Given the description of an element on the screen output the (x, y) to click on. 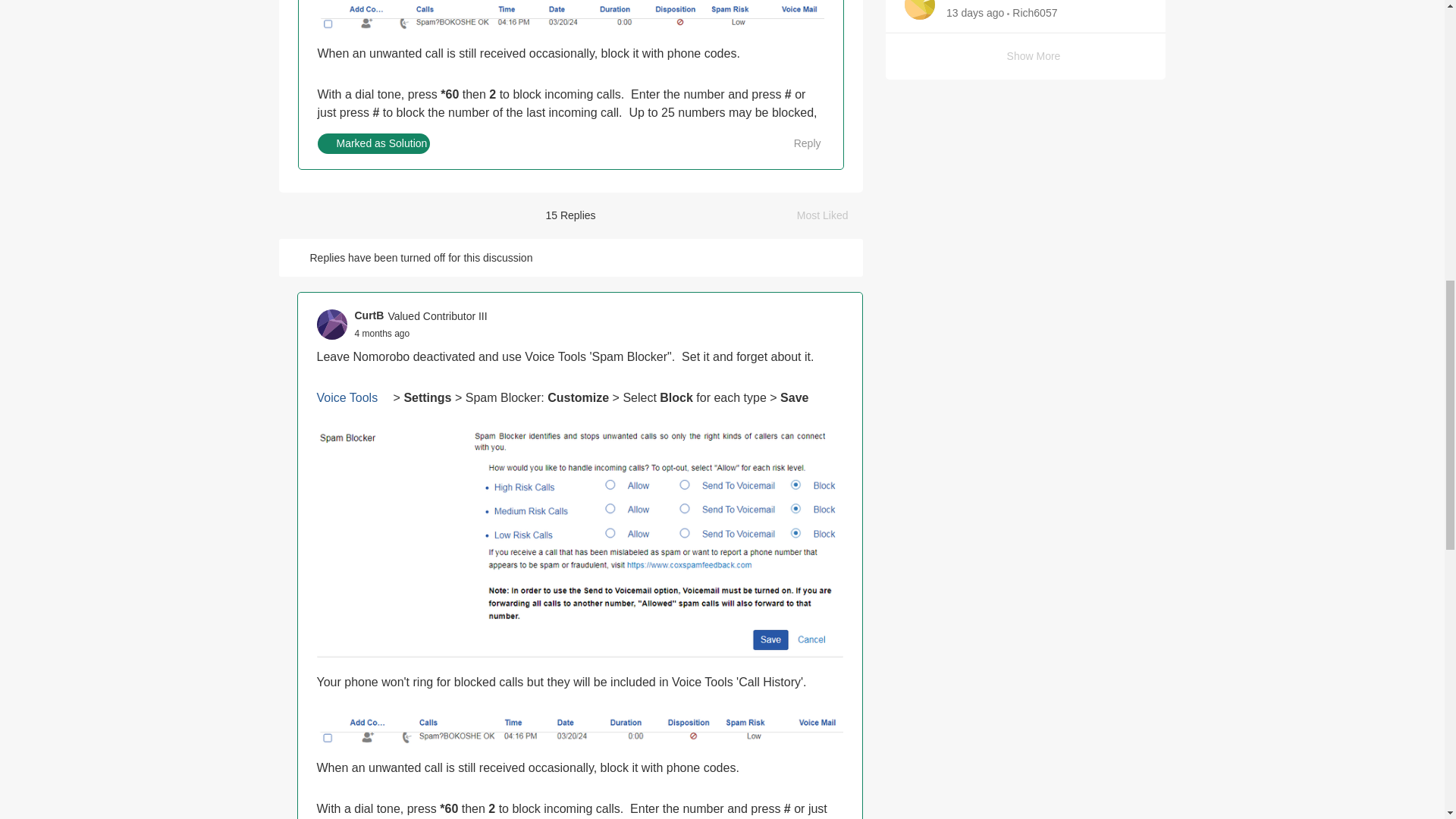
Reply (799, 143)
March 23, 2024 at 5:15 AM (382, 333)
CurtB (369, 315)
Marked as Solution (373, 143)
Voice Tools (353, 397)
4 months ago (382, 333)
